Given the description of an element on the screen output the (x, y) to click on. 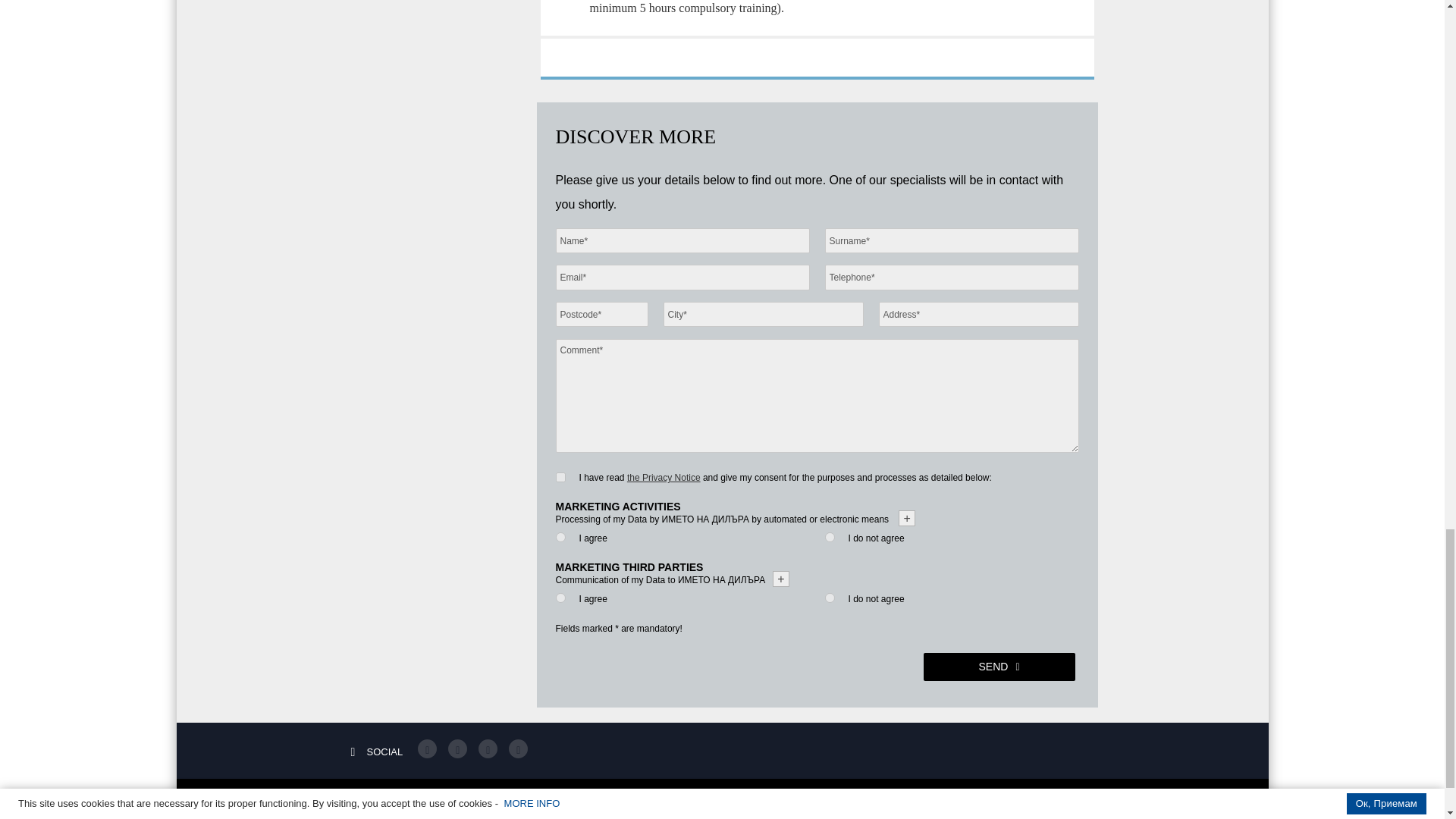
Yes (559, 477)
I agree (559, 597)
I agree (559, 537)
I do not agree (829, 537)
I do not agree (829, 597)
